Given the description of an element on the screen output the (x, y) to click on. 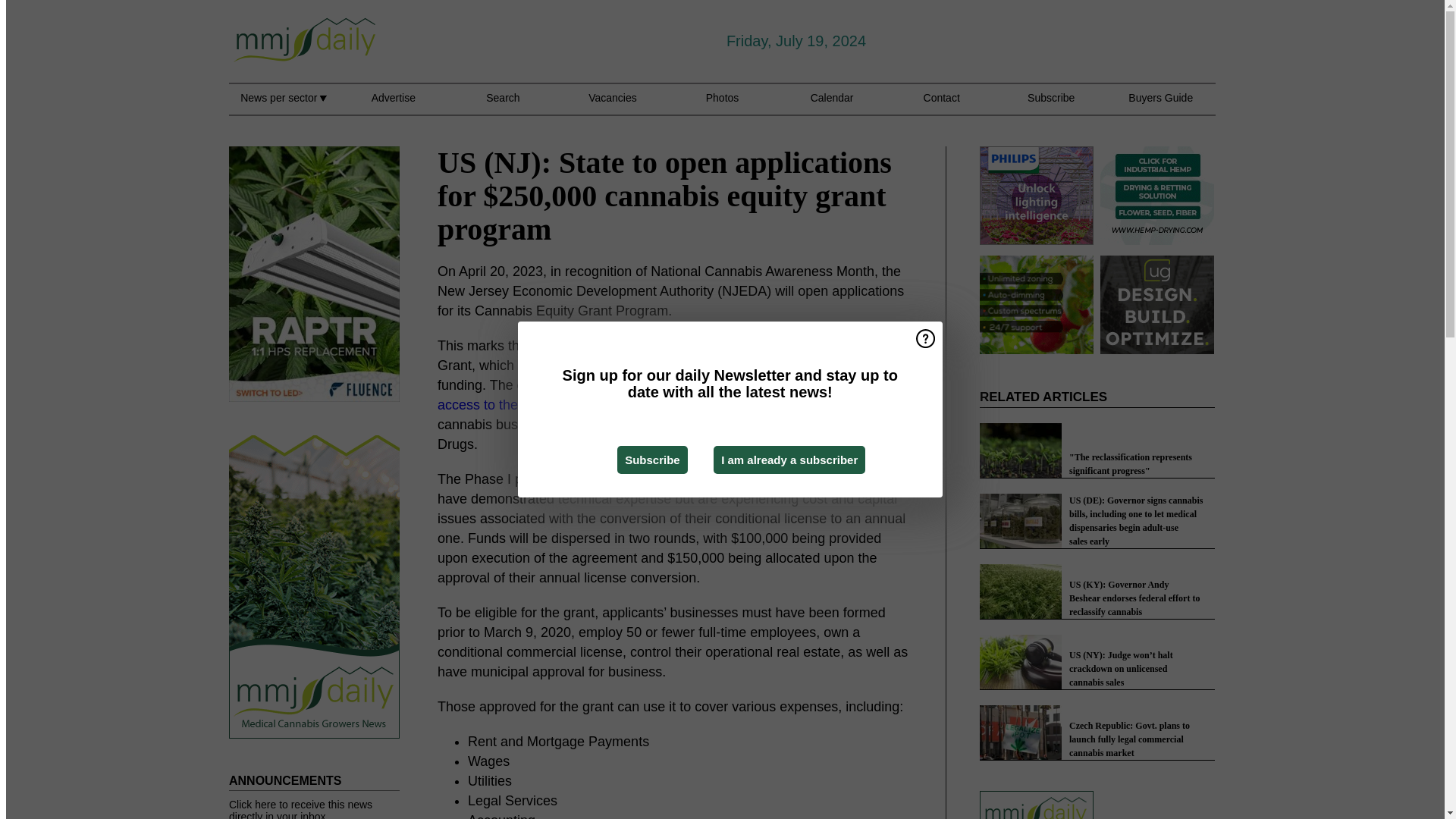
Advertise (392, 106)
Subscribe (652, 459)
I am already a subscriber (788, 459)
Contact (941, 106)
News per sector (283, 106)
Search (502, 106)
Calendar (831, 106)
Photos (722, 106)
Vacancies (612, 106)
